Given the description of an element on the screen output the (x, y) to click on. 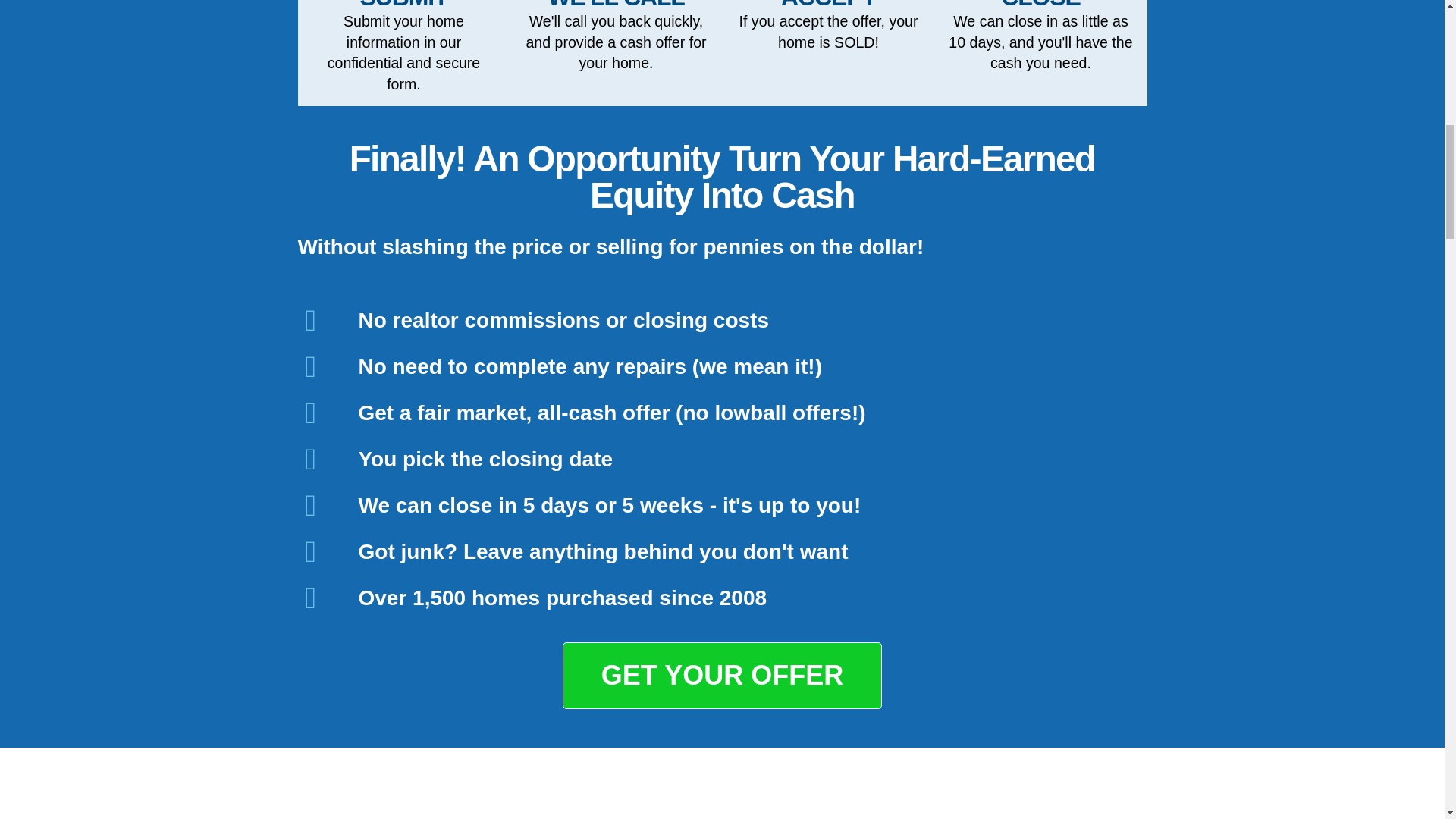
GET YOUR OFFER (722, 675)
